Given the description of an element on the screen output the (x, y) to click on. 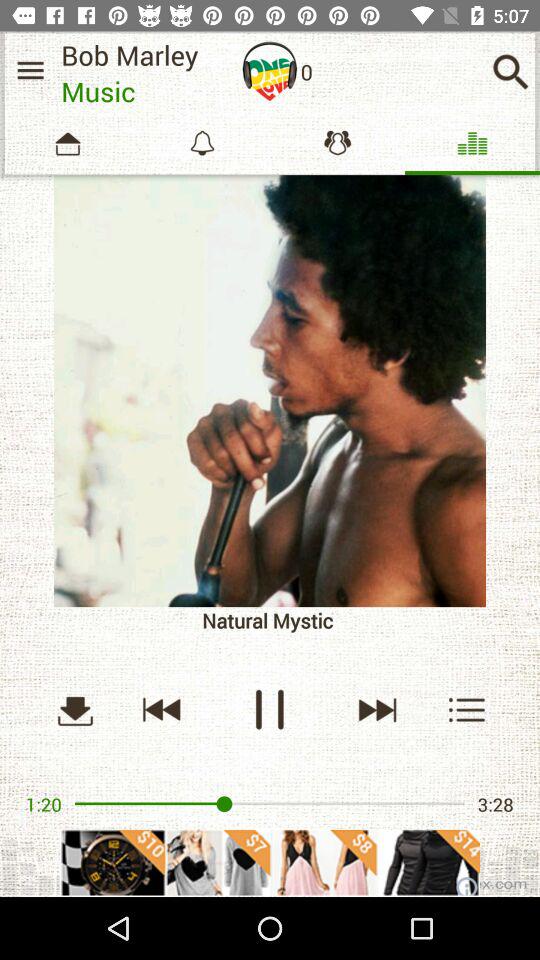
select pause (269, 709)
